Given the description of an element on the screen output the (x, y) to click on. 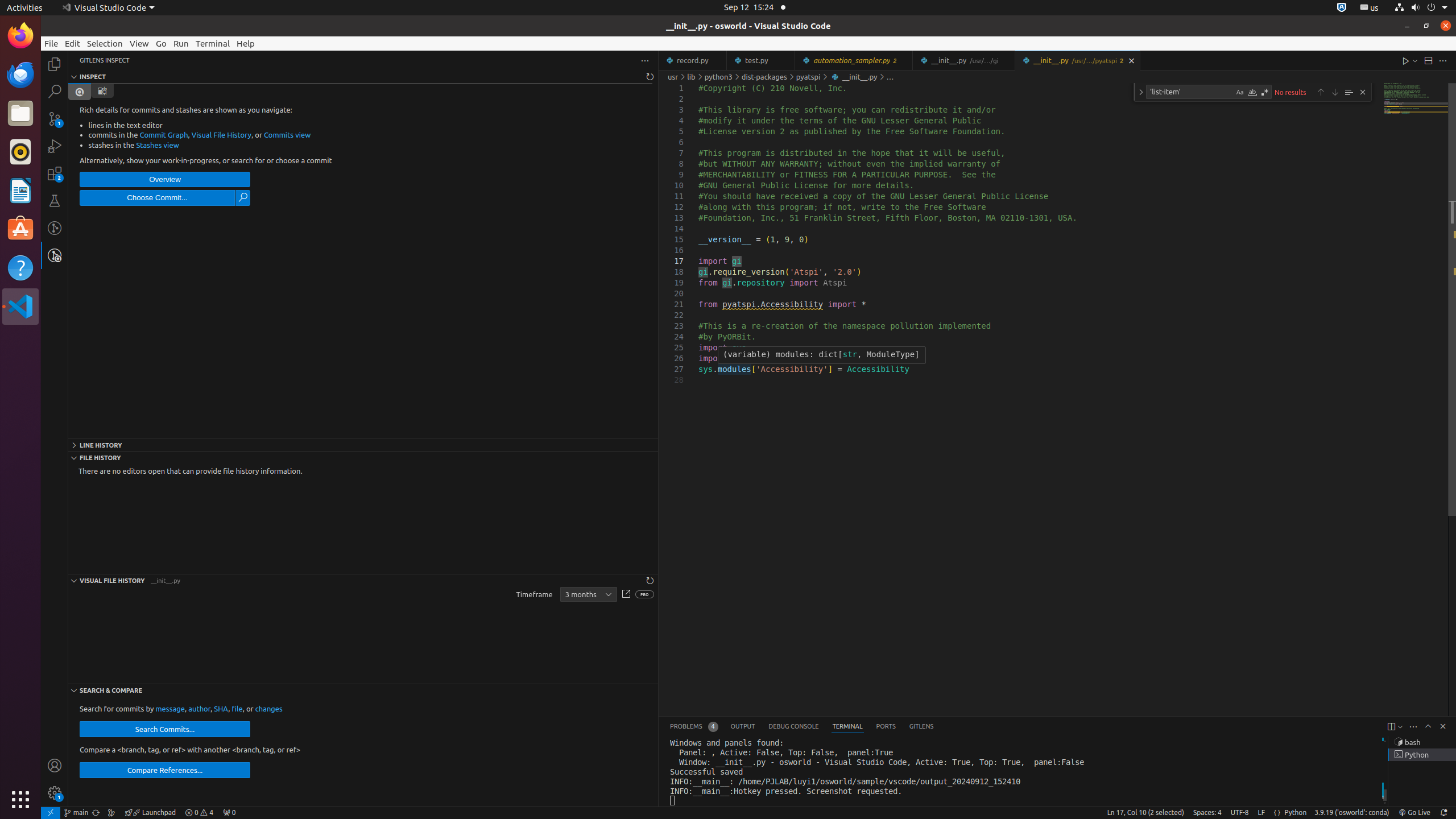
Warnings: 4 Element type: push-button (199, 812)
Explorer (Ctrl+Shift+E) Element type: page-tab (54, 63)
Python Element type: push-button (1295, 812)
rocket gitlens-unplug Launchpad, GitLens Launchpad ᴘʀᴇᴠɪᴇᴡ    &mdash;    [$(question)](command:gitlens.launchpad.indicator.action?%22info%22 "What is this?") [$(gear)](command:workbench.action.openSettings?%22gitlens.launchpad%22 "Settings")  |  [$(circle-slash) Hide](command:gitlens.launchpad.indicator.action?%22hide%22 "Hide") --- [Launchpad](command:gitlens.launchpad.indicator.action?%info%22 "Learn about Launchpad") organizes your pull requests into actionable groups to help you focus and keep your team unblocked. It's always accessible using the `GitLens: Open Launchpad` command from the Command Palette. --- [Connect an integration](command:gitlens.showLaunchpad?%7B%22source%22%3A%22launchpad-indicator%22%7D "Connect an integration") to get started. Element type: push-button (150, 812)
Open in Editor Element type: link (625, 594)
